Given the description of an element on the screen output the (x, y) to click on. 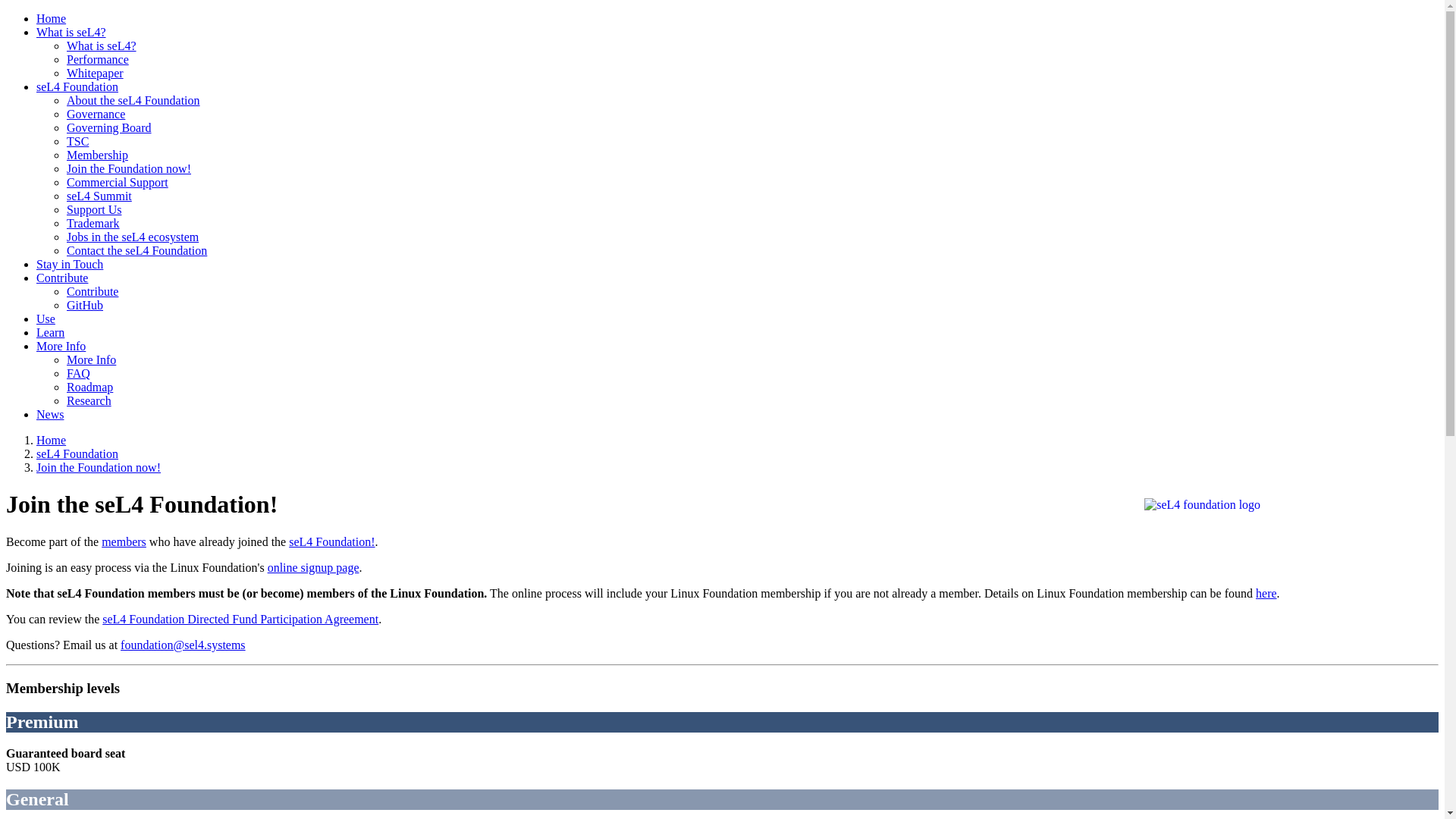
What is seL4? (71, 31)
Governance (95, 113)
Membership (124, 541)
Research (89, 400)
GitHub (84, 305)
Signup page (313, 567)
Join the Foundation now! (128, 168)
Contribute (61, 277)
Support Us (93, 209)
seL4 Foundation (76, 86)
